Given the description of an element on the screen output the (x, y) to click on. 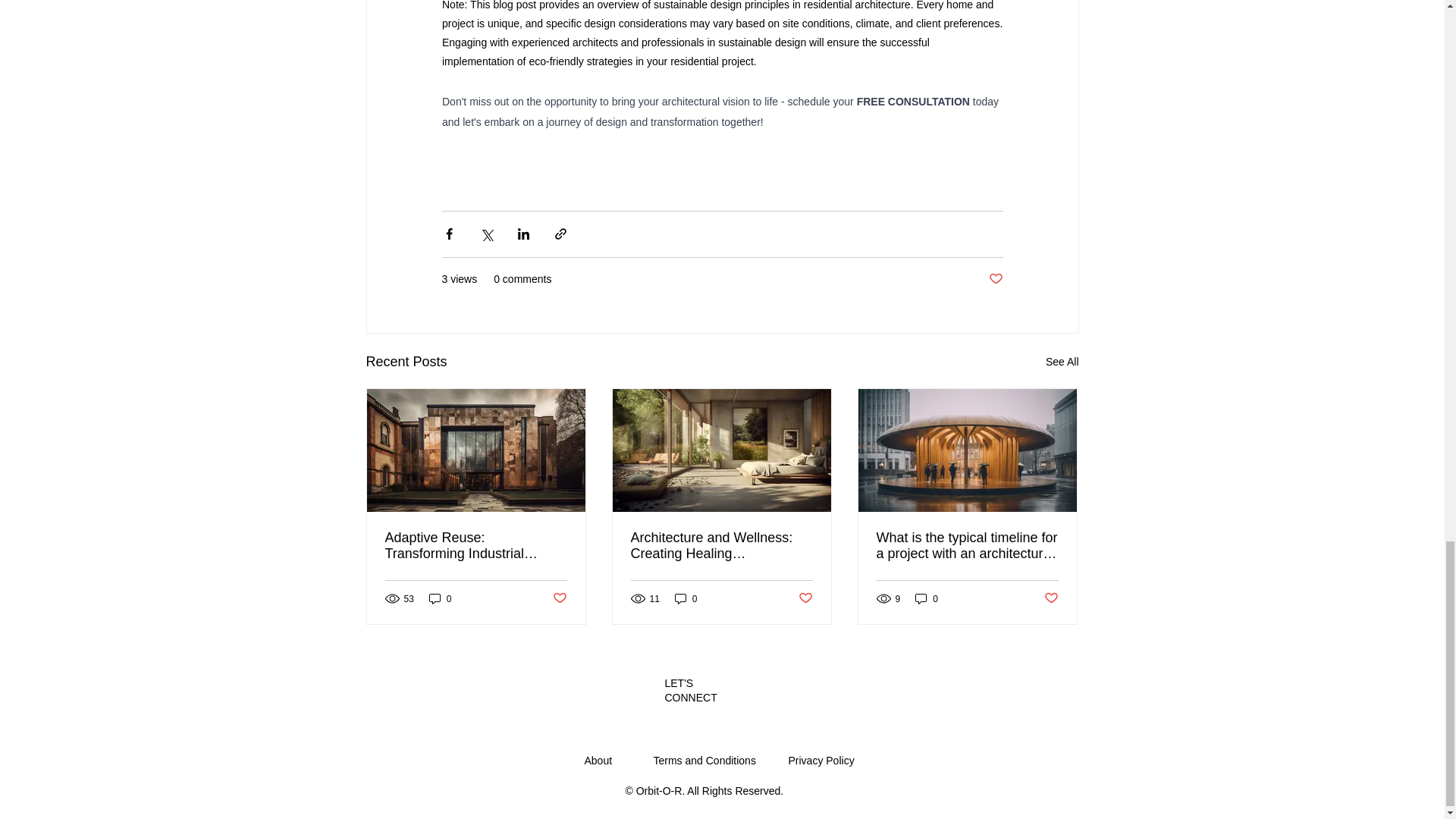
Post not marked as liked (558, 598)
Post not marked as liked (804, 598)
FREE CONSULTATION (912, 99)
0 (926, 598)
Post not marked as liked (1050, 598)
0 (685, 598)
0 (440, 598)
